Given the description of an element on the screen output the (x, y) to click on. 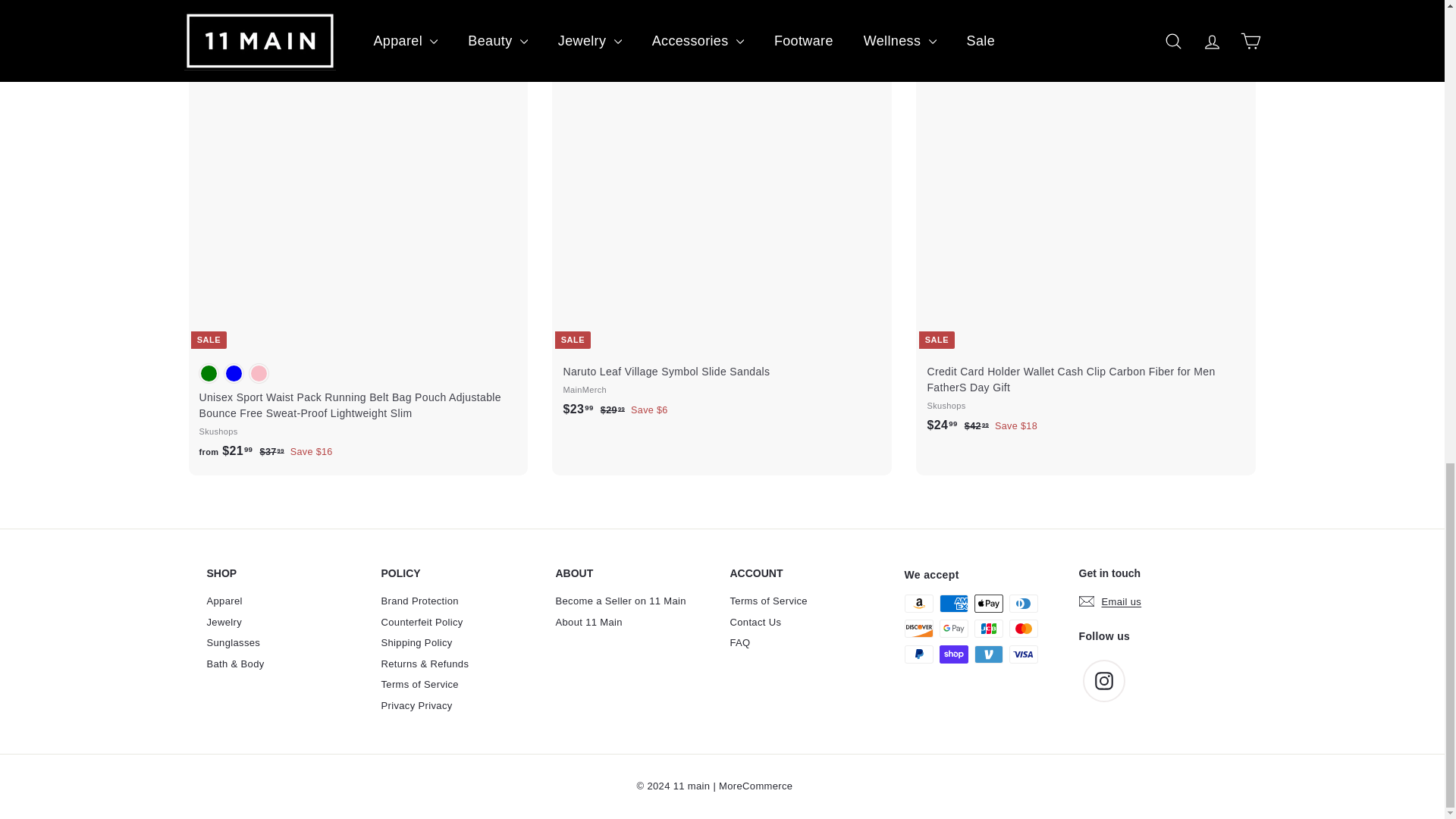
11 main on Instagram (1104, 680)
Diners Club (1022, 603)
Google Pay (953, 628)
Discover (918, 628)
Amazon (918, 603)
Shop Pay (953, 654)
JCB (988, 628)
PayPal (918, 654)
Apple Pay (988, 603)
Visa (1022, 654)
Mastercard (1022, 628)
Venmo (988, 654)
American Express (953, 603)
